Given the description of an element on the screen output the (x, y) to click on. 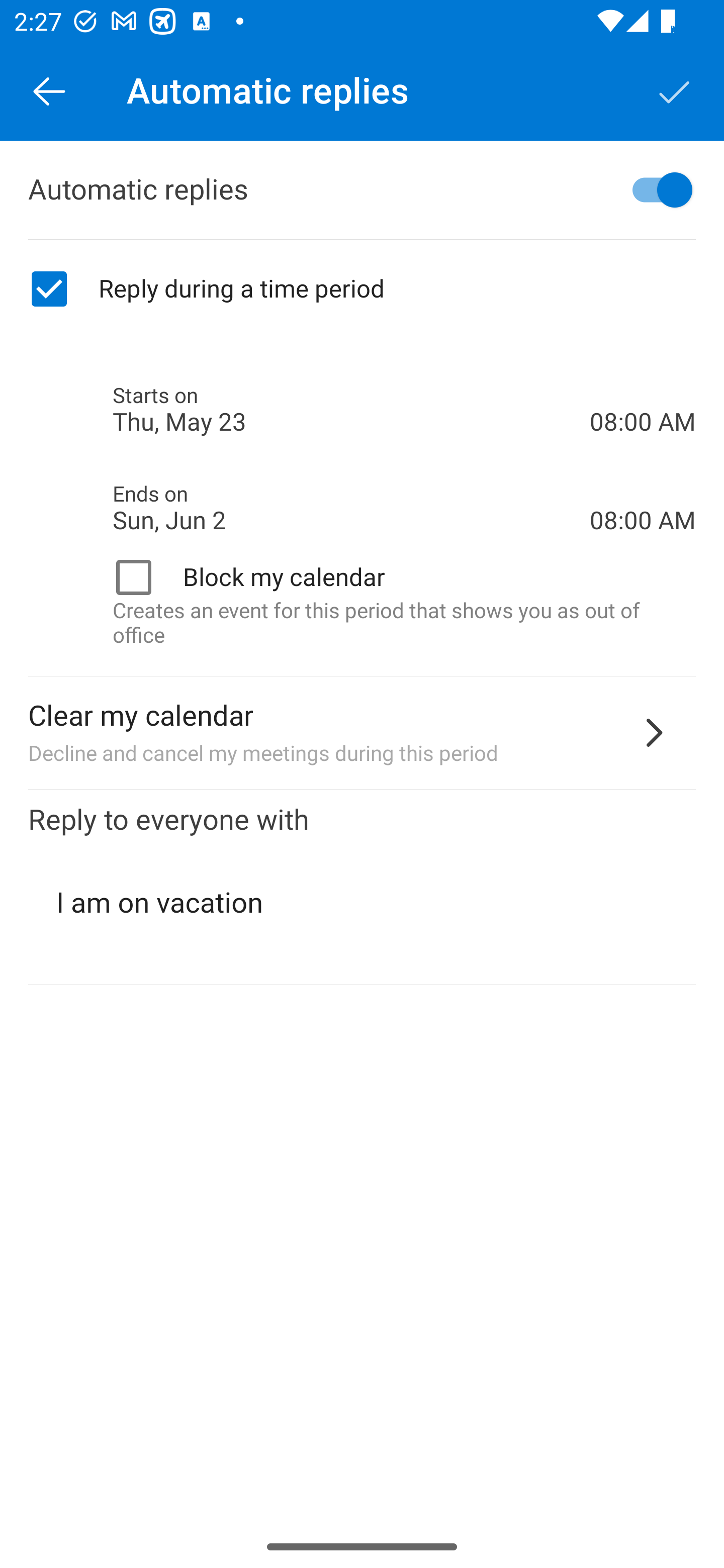
Back (49, 90)
Save (674, 90)
Automatic replies (362, 190)
Reply during a time period (362, 288)
08:00 AM (642, 387)
Starts on Thu, May 23 (351, 409)
08:00 AM (642, 485)
Ends on Sun, Jun 2 (351, 507)
Reply to everyone with Edit box (361, 887)
